Given the description of an element on the screen output the (x, y) to click on. 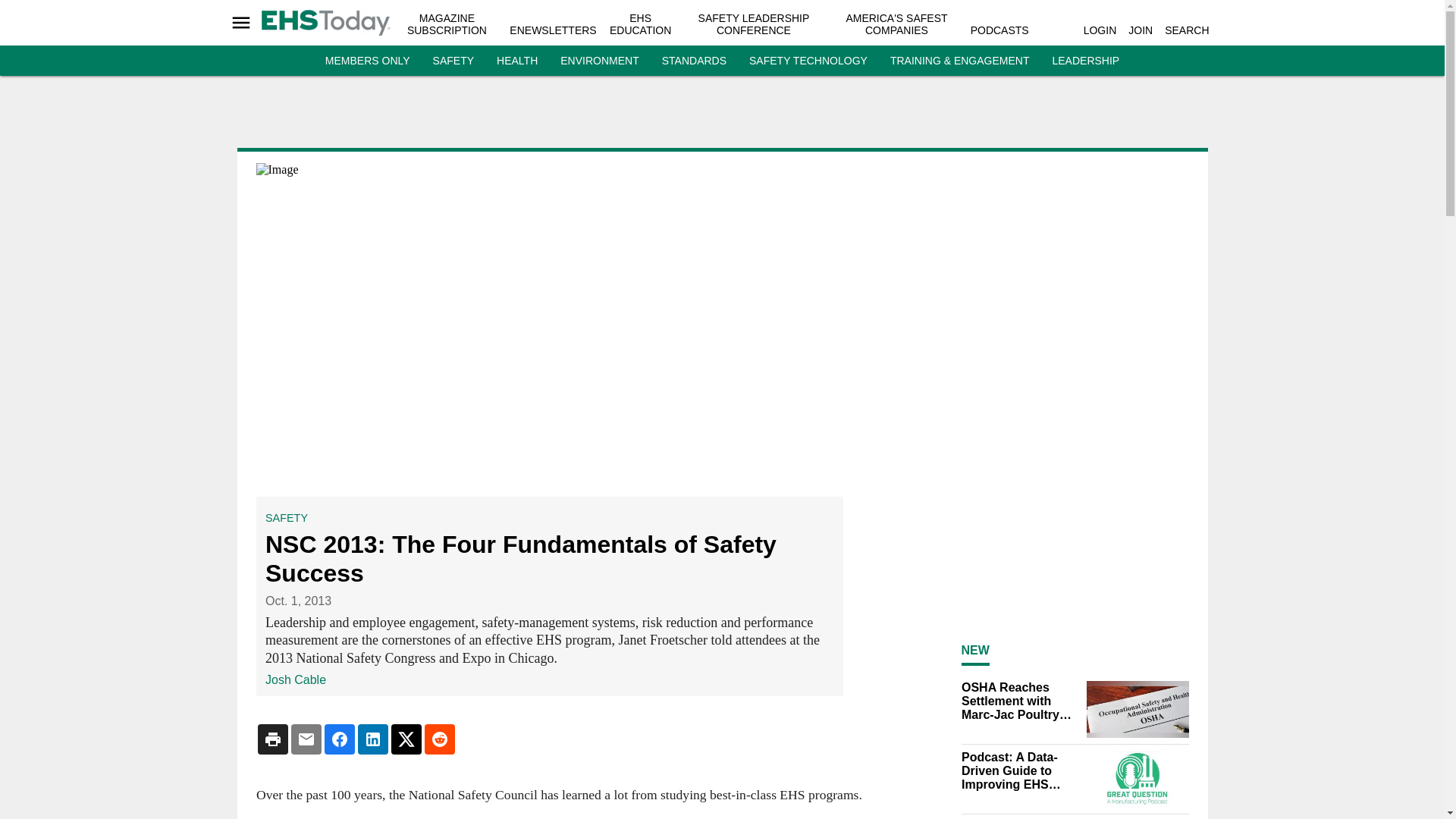
PODCASTS (1000, 30)
SAFETY LEADERSHIP CONFERENCE (753, 24)
STANDARDS (694, 60)
MEMBERS ONLY (367, 60)
EHS EDUCATION (640, 24)
JOIN (1140, 30)
SAFETY TECHNOLOGY (808, 60)
LEADERSHIP (1085, 60)
HEALTH (516, 60)
